Given the description of an element on the screen output the (x, y) to click on. 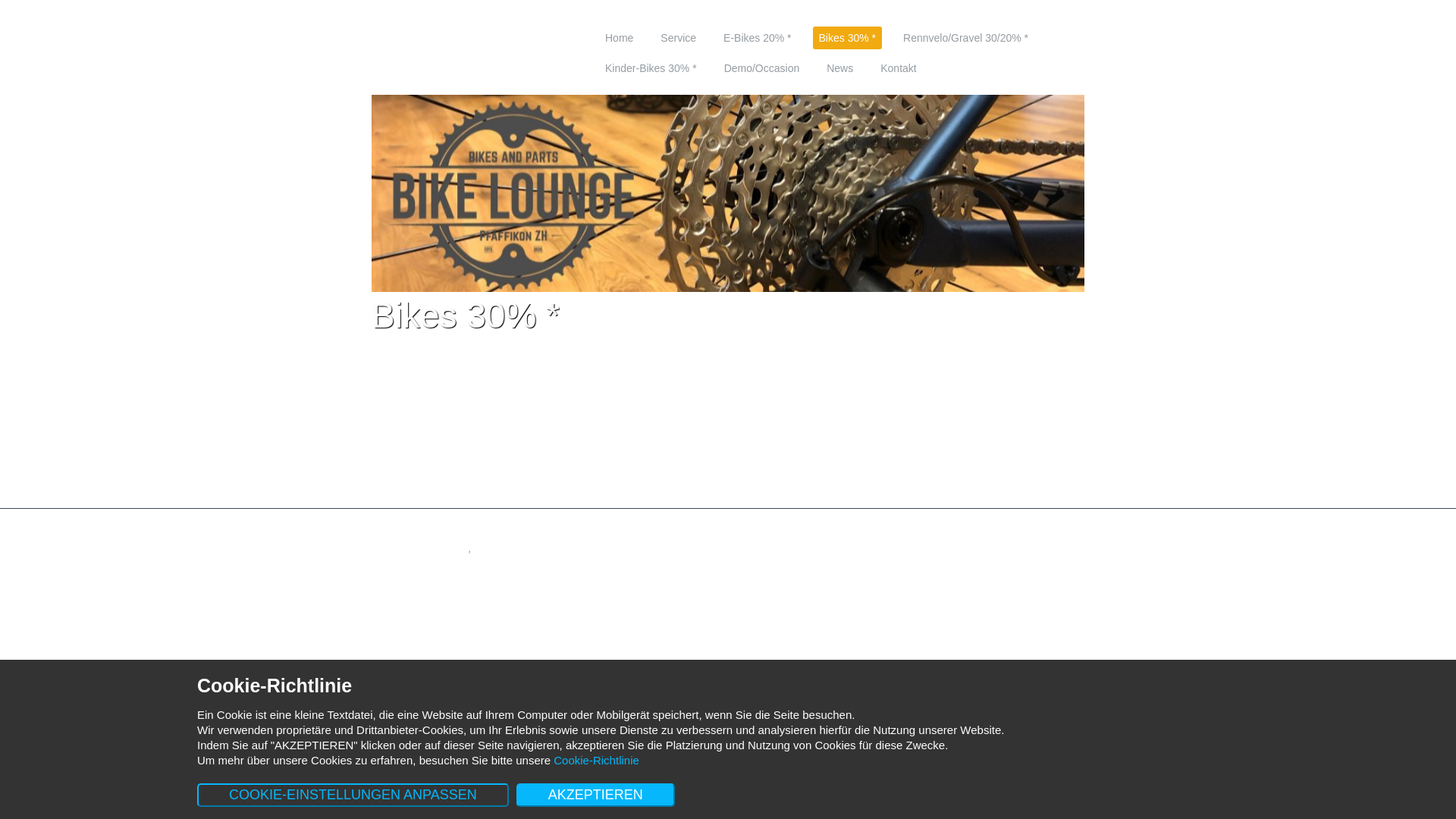
Home Element type: text (619, 37)
Bremse hinten Shimano SLX 4Kolben 203mm Element type: hover (963, 474)
Shimano Deore 1 x 11 Element type: hover (730, 435)
Service Element type: text (678, 37)
E-Bikes 20% * Element type: text (483, 516)
Bremse vorne Shimano SLX 4Kolben 203mm Element type: hover (730, 494)
Shimano SLX 1 x 12 Element type: hover (730, 474)
News Element type: text (839, 67)
Demo/Occasion Element type: text (762, 67)
Richtlinien zu Cookies Element type: text (416, 548)
COOKIE-EINSTELLUNGEN ANPASSEN Element type: text (352, 794)
Rennvelo/Gravel 30/20% * Element type: text (652, 516)
Kontakt Element type: text (898, 67)
Bikes 30% * Element type: text (554, 516)
Kinder-Bikes 30% * Element type: text (650, 67)
Home Element type: text (385, 516)
Rock Shox Element type: hover (495, 494)
Bikes 30% * Element type: text (846, 37)
E-Bikes 20% * Element type: text (757, 37)
Service Element type: text (424, 516)
News Element type: text (918, 516)
AKZEPTIEREN Element type: text (595, 794)
Rennvelo/Gravel 30/20% * Element type: text (965, 37)
Kontakt Element type: text (957, 516)
Rock Shox  Element type: hover (495, 454)
Demo/Occasion Element type: text (859, 516)
Kinder-Bikes 30% * Element type: text (768, 516)
Bremse hinten Tektro 4Kolben 203mm Element type: hover (963, 435)
Bremse vorne Tektro 4Kolben 203mm Element type: hover (730, 454)
Cookie-Richtlinie Element type: text (596, 759)
